Given the description of an element on the screen output the (x, y) to click on. 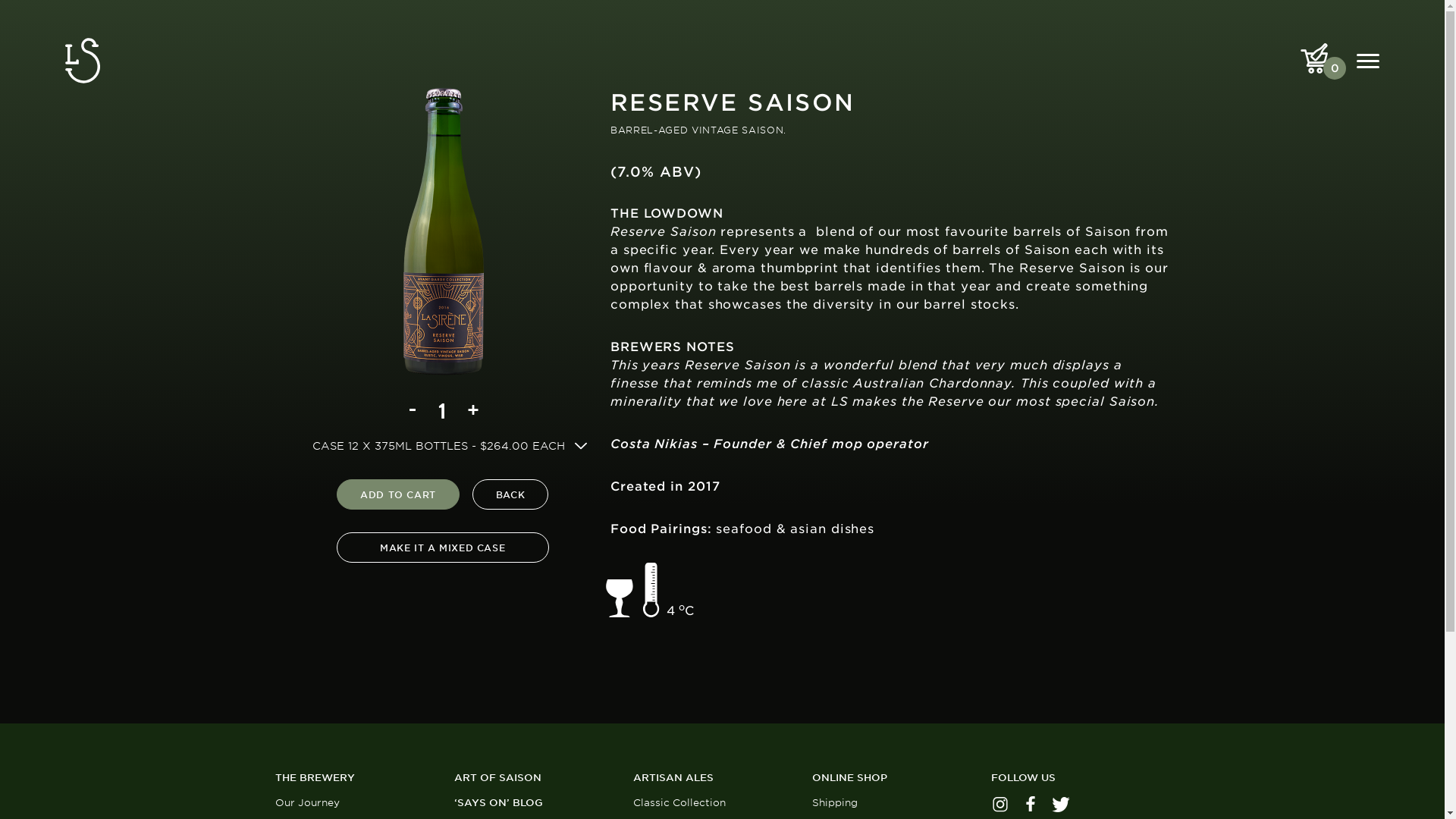
Classic Collection Element type: text (678, 802)
Our Journey Element type: text (306, 802)
Instragram Element type: text (999, 804)
logo Element type: text (82, 60)
Cart Element type: text (1314, 58)
MAKE IT A MIXED CASE Element type: text (442, 547)
Shipping Element type: text (833, 802)
Facebook Element type: text (1029, 804)
BACK Element type: text (510, 494)
ONLINE SHOP Element type: text (900, 777)
ARTISAN ALES Element type: text (721, 777)
THE BREWERY Element type: text (363, 777)
ART OF SAISON Element type: text (542, 777)
ADD TO CART Element type: text (397, 494)
Twitter Element type: text (1060, 804)
